Given the description of an element on the screen output the (x, y) to click on. 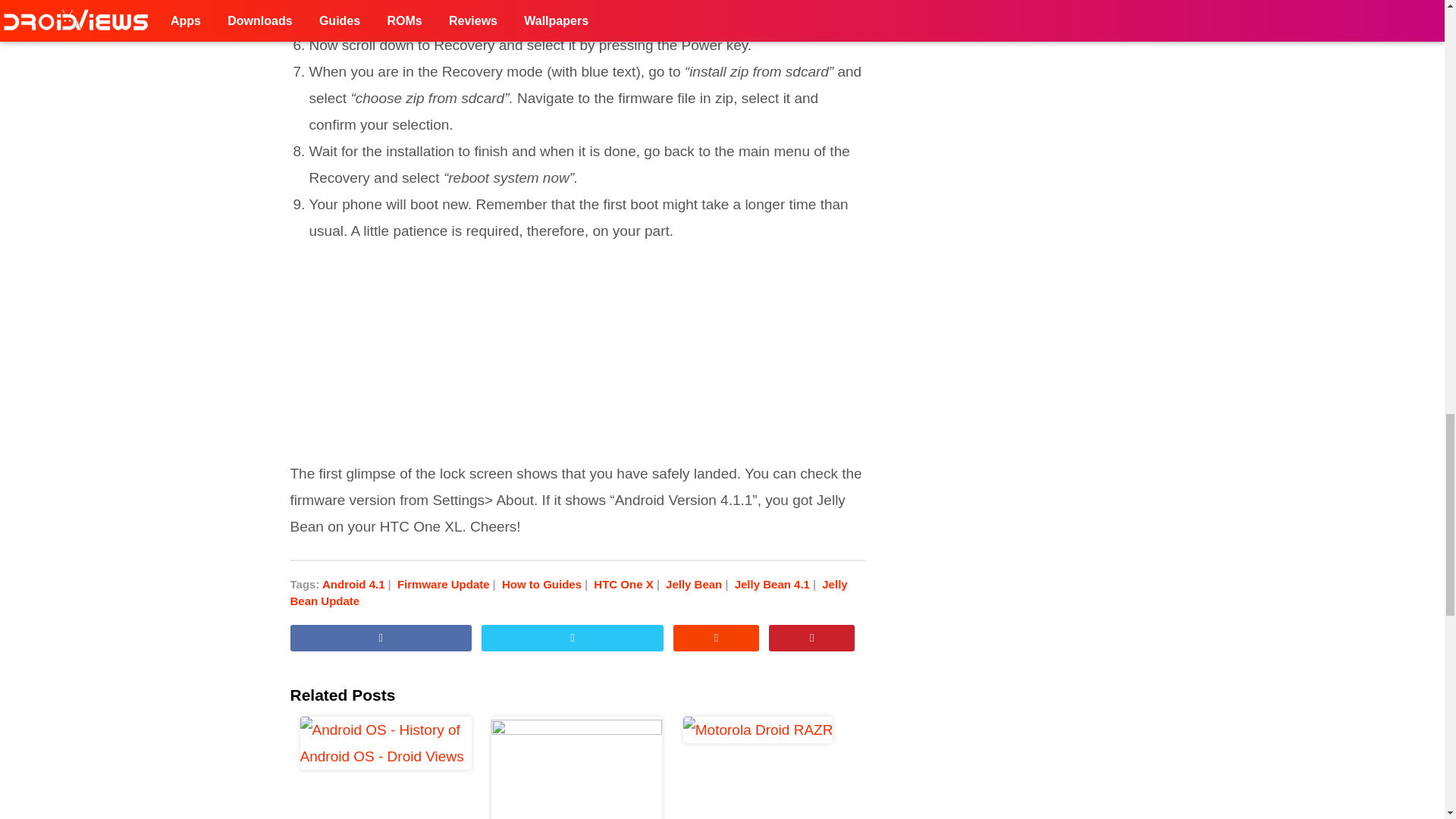
Jelly Bean Update (568, 592)
Jelly Bean 4.1 (776, 584)
How to Guides (546, 584)
Android 4.1 (357, 584)
Jelly Bean (697, 584)
HTC One X (628, 584)
Essay: The History of Android OS (385, 767)
Firmware Update (448, 584)
Sony Xperia Z2 Apps Port for Nexus 4 and Nexus 5 (577, 767)
